Given the description of an element on the screen output the (x, y) to click on. 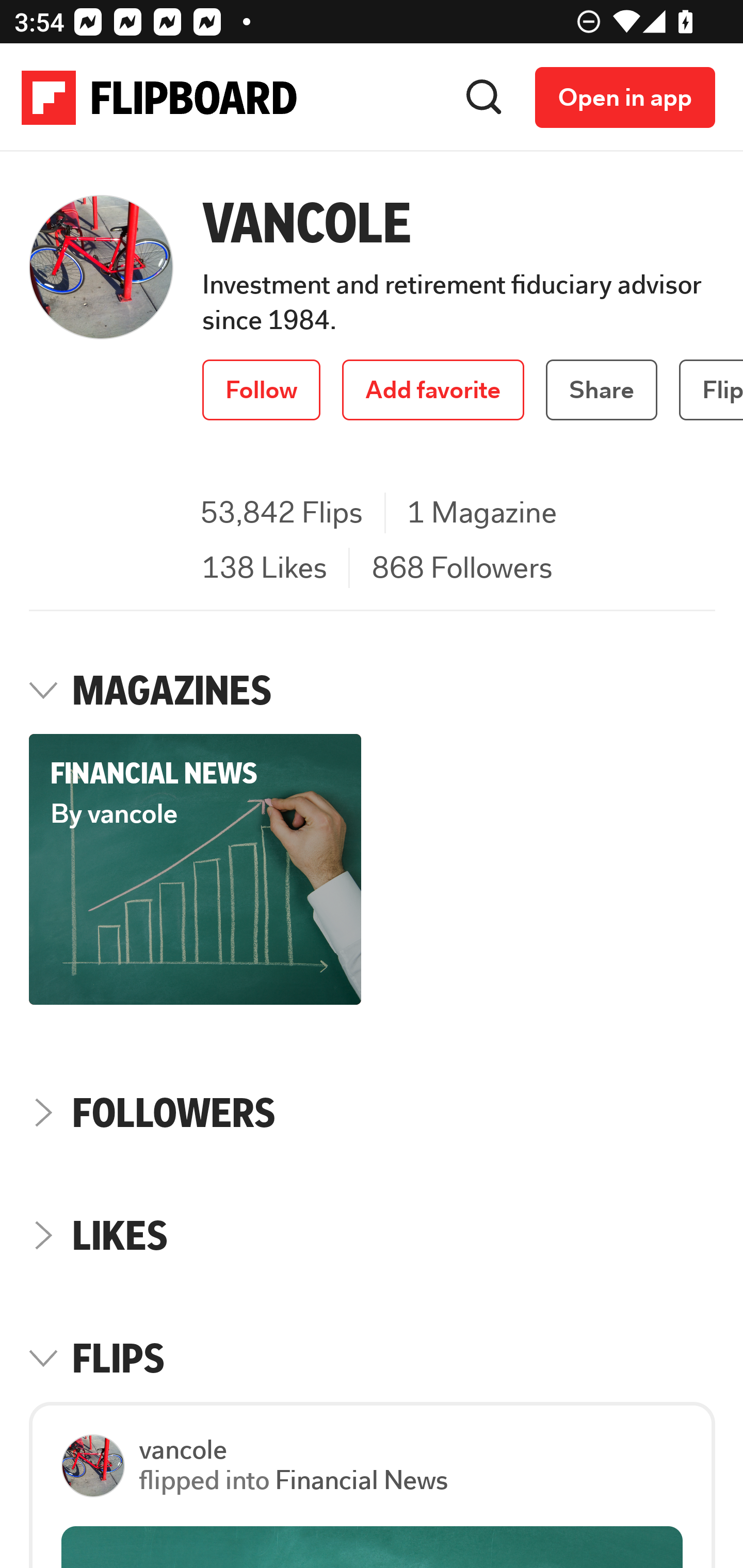
Open in app (625, 96)
Search (484, 97)
Follow (261, 390)
Add favorite (433, 390)
Share (602, 390)
53,842 Flips 53,842   Flips (280, 514)
1 Magazine 1   Magazine (481, 514)
138 Likes 138   Likes (264, 569)
868 Followers 868   Followers (460, 569)
vancole (182, 1449)
Avatar - vancole (101, 1466)
 Financial News (358, 1480)
